Given the description of an element on the screen output the (x, y) to click on. 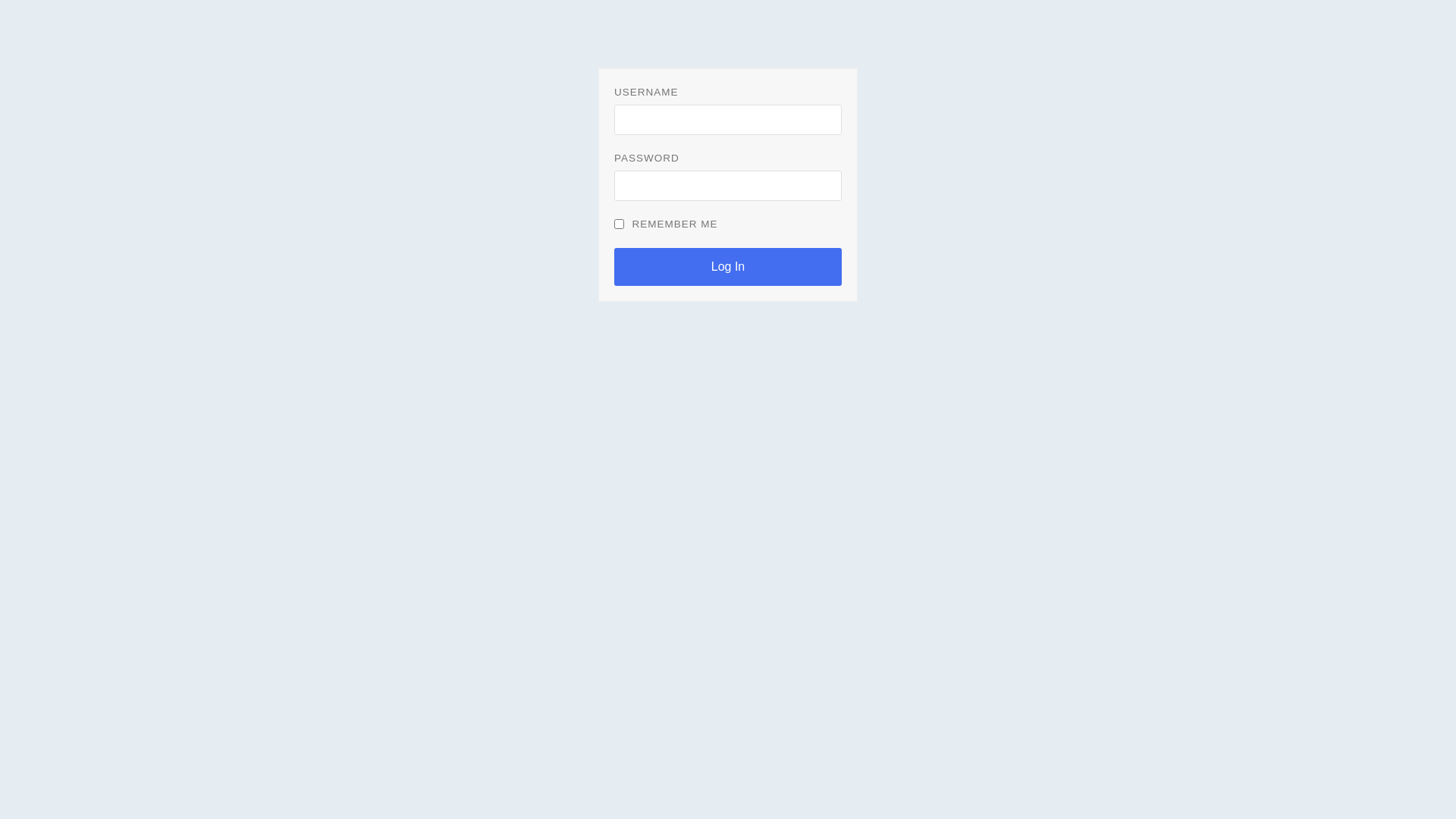
Log In Element type: text (727, 266)
